Given the description of an element on the screen output the (x, y) to click on. 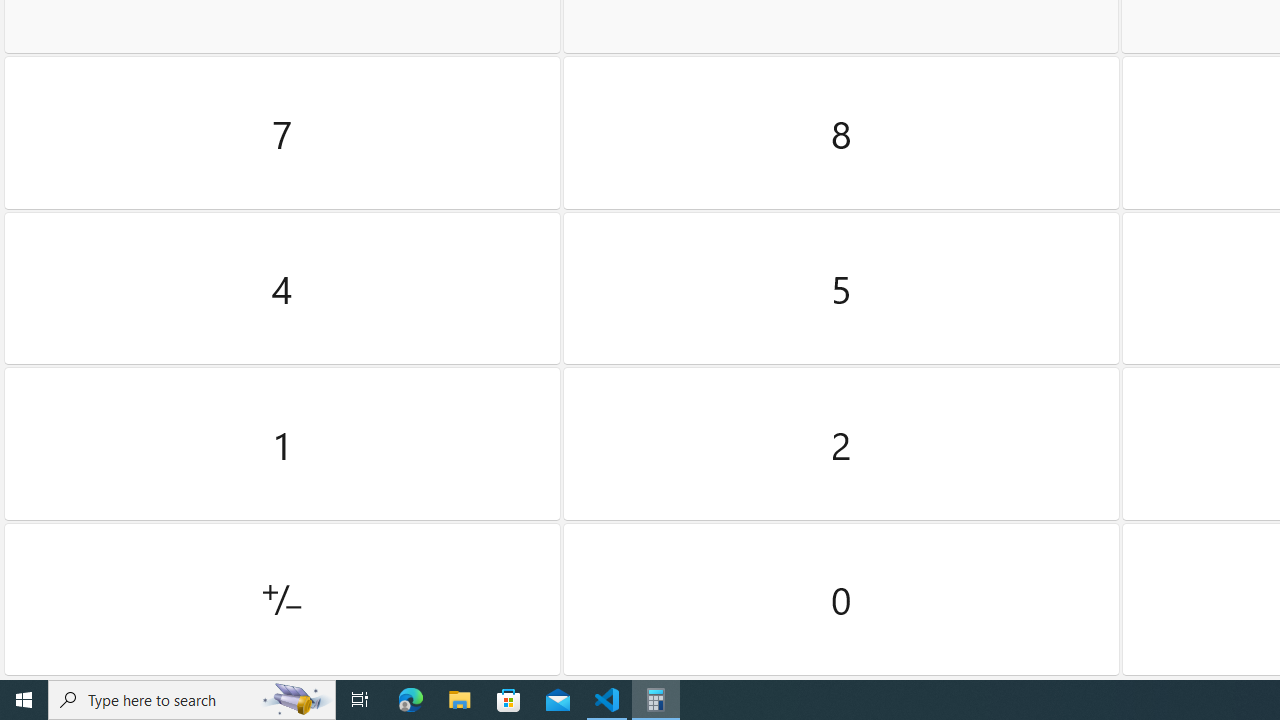
Calculator - 1 running window (656, 699)
